Given the description of an element on the screen output the (x, y) to click on. 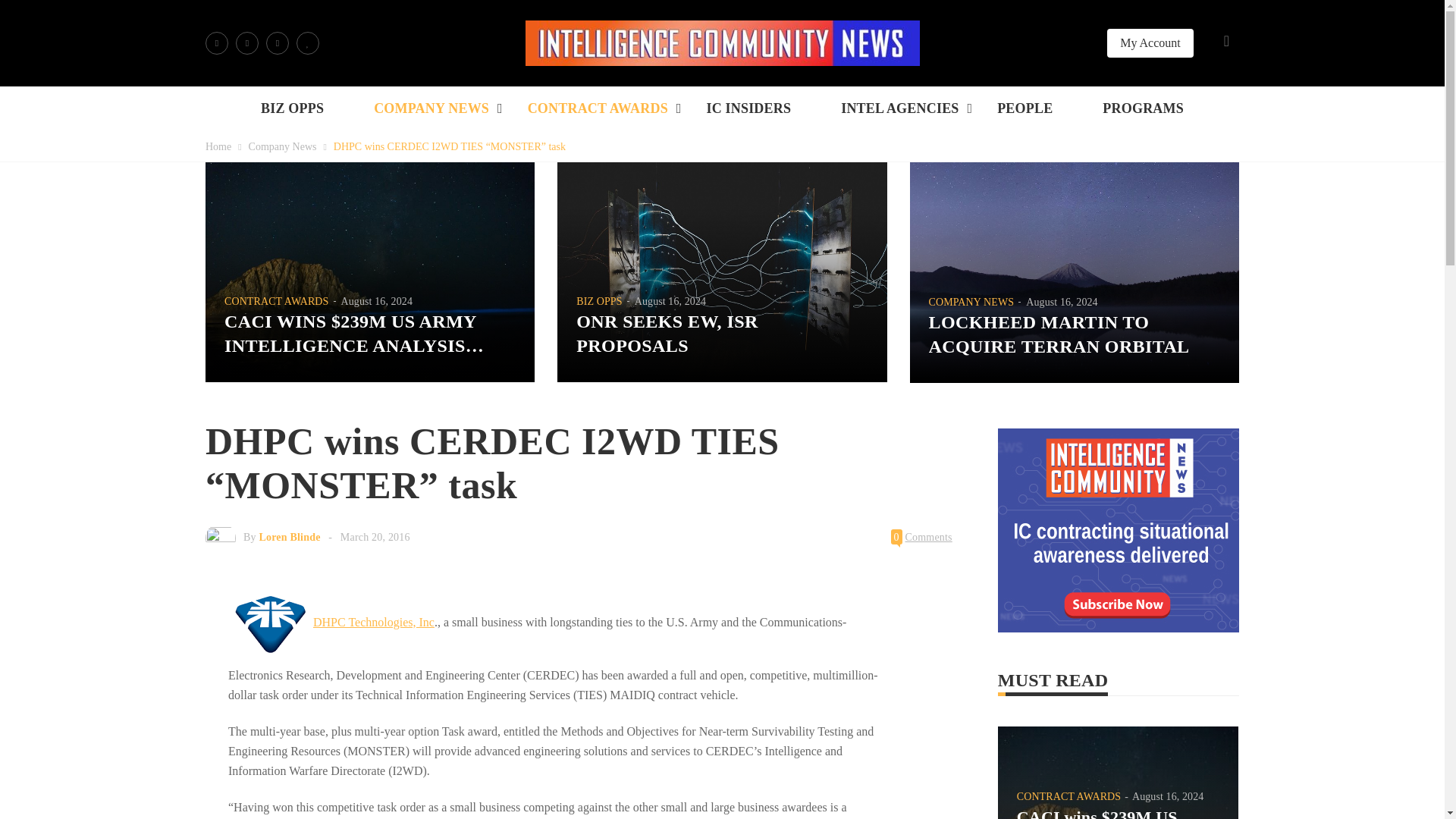
IC INSIDERS (748, 108)
Company News (282, 146)
Home (218, 146)
BIZ OPPS (292, 108)
Company News (282, 146)
Home (218, 146)
CONTRACT AWARDS (597, 108)
COMPANY NEWS (431, 108)
PEOPLE (1024, 108)
